Given the description of an element on the screen output the (x, y) to click on. 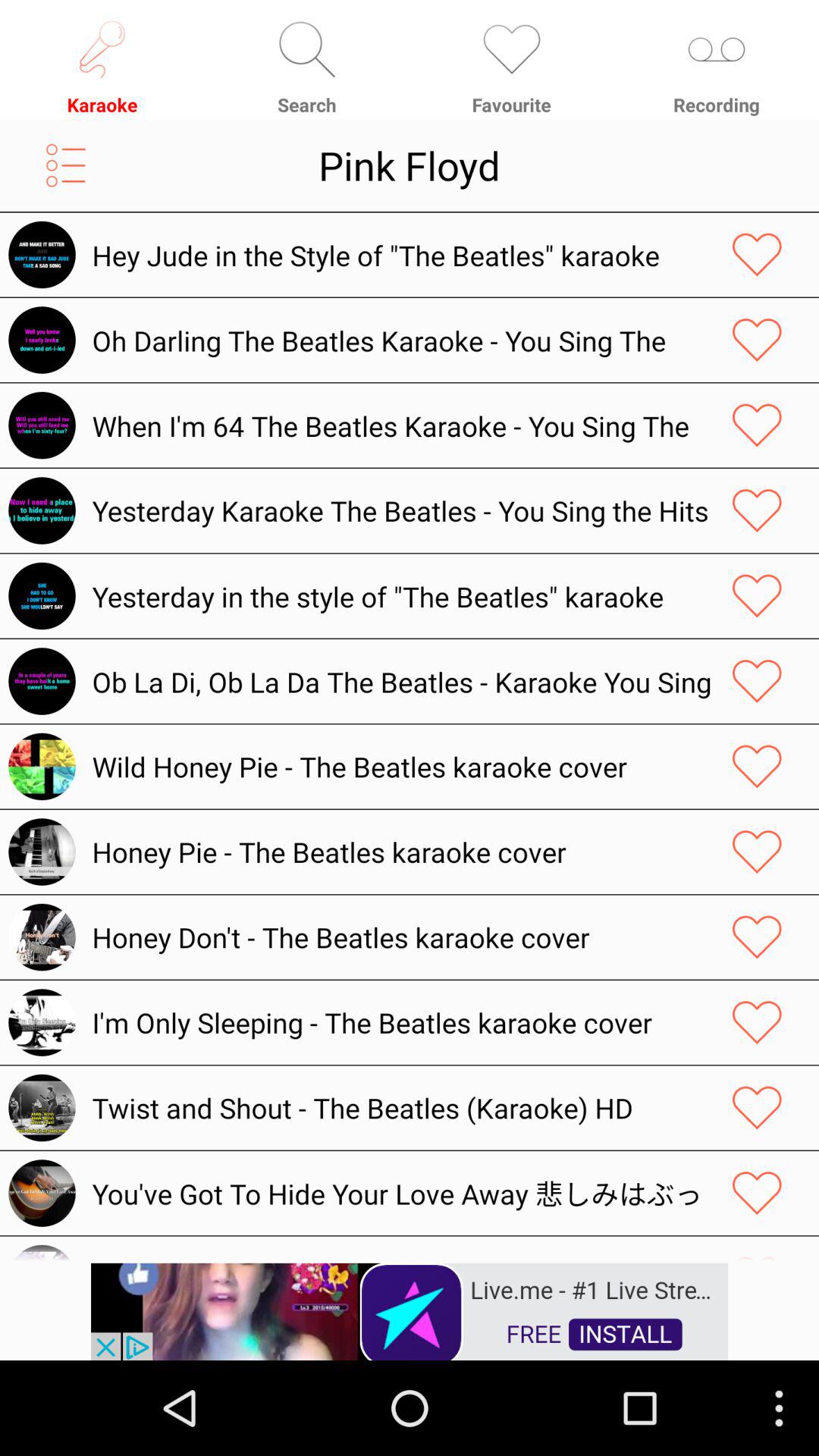
menu (65, 165)
